Given the description of an element on the screen output the (x, y) to click on. 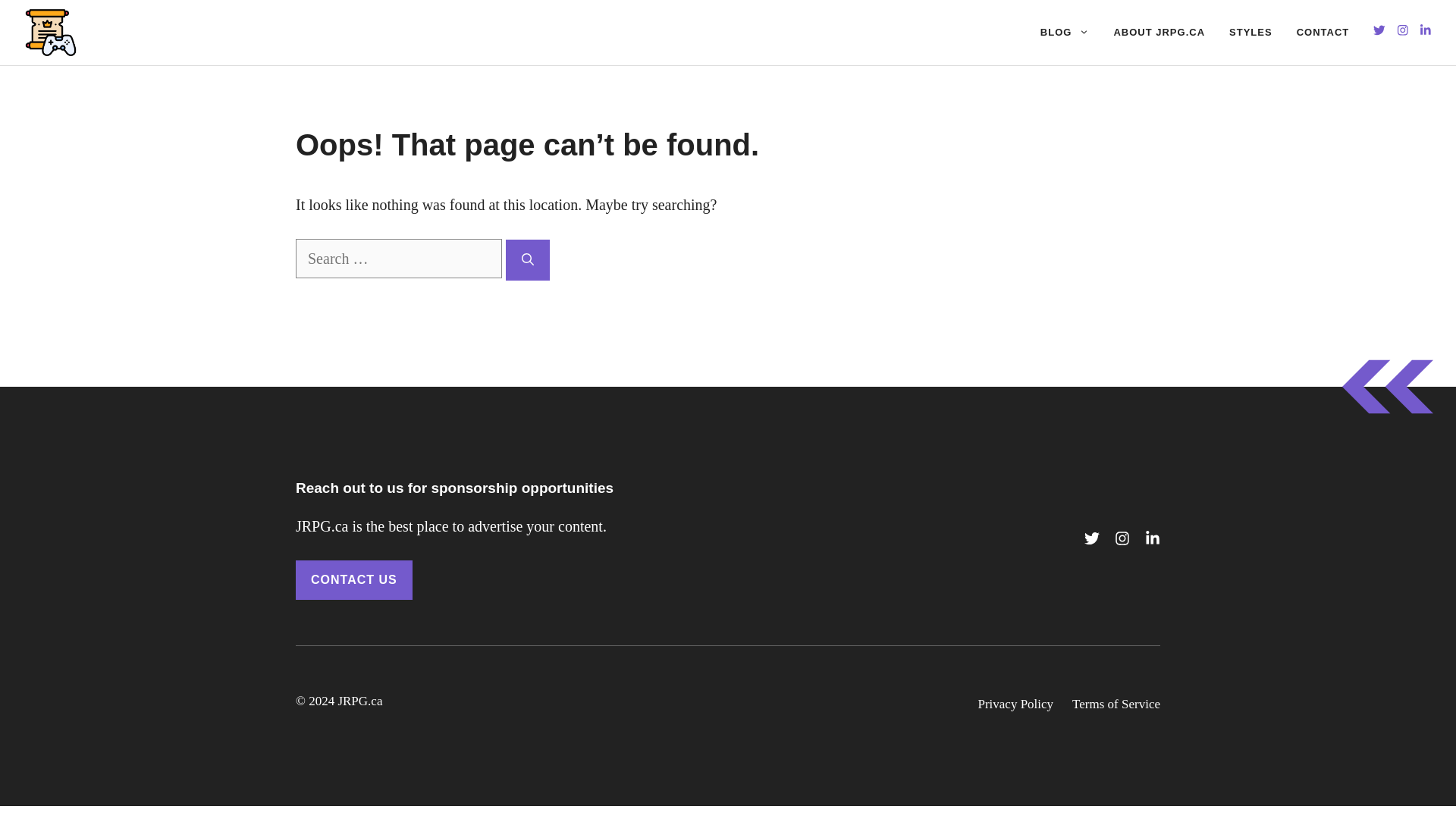
BLOG (1064, 32)
CONTACT US (353, 578)
Privacy Policy (1014, 704)
Search for: (398, 258)
STYLES (1250, 32)
CONTACT (1322, 32)
ABOUT JRPG.CA (1158, 32)
Terms of Service (1115, 704)
